Given the description of an element on the screen output the (x, y) to click on. 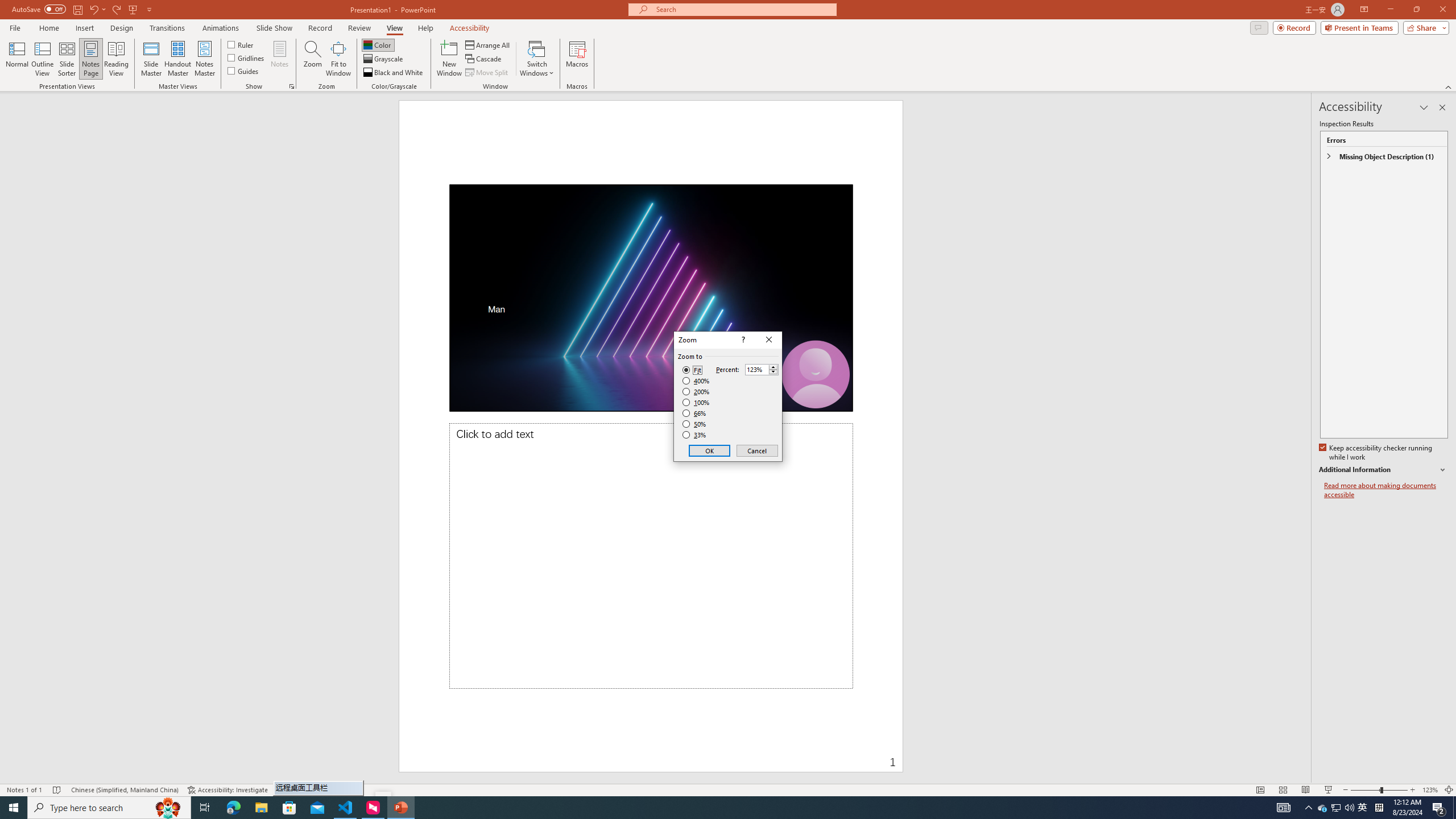
Black and White (393, 72)
33% (694, 434)
Gridlines (246, 56)
OK (709, 450)
